Given the description of an element on the screen output the (x, y) to click on. 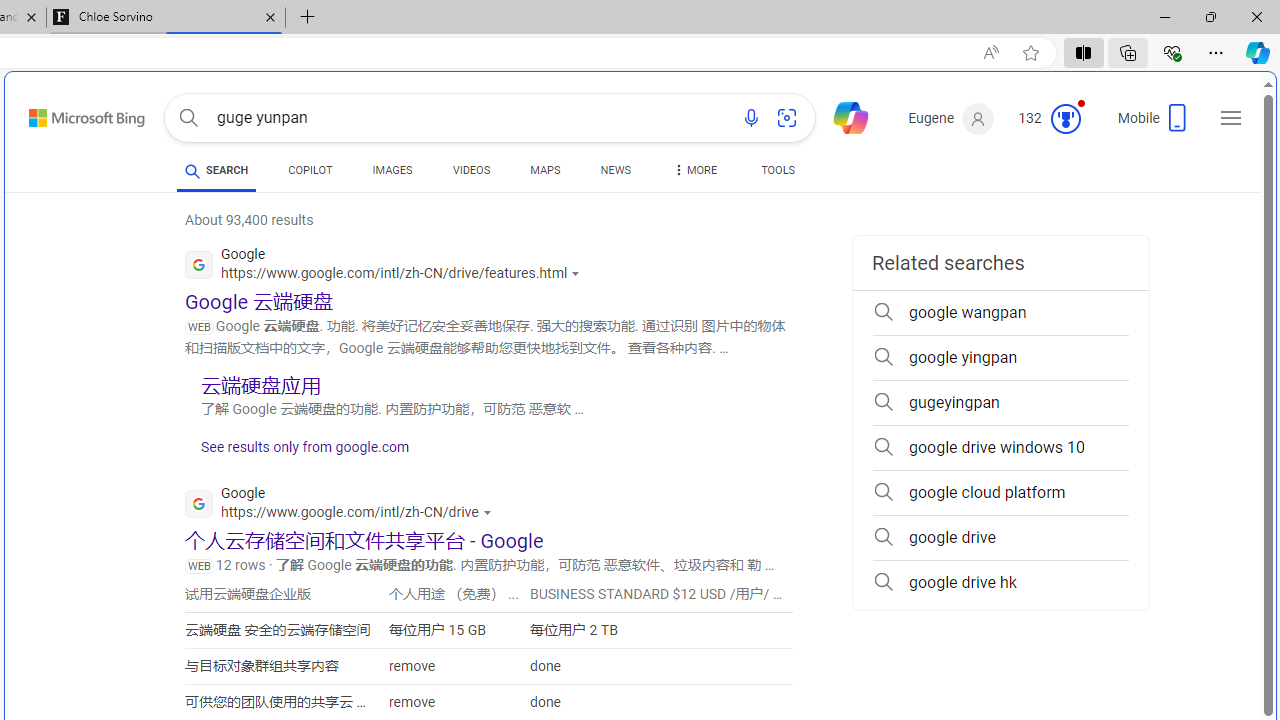
google cloud platform (1000, 492)
google wangpan (1000, 312)
